Given the description of an element on the screen output the (x, y) to click on. 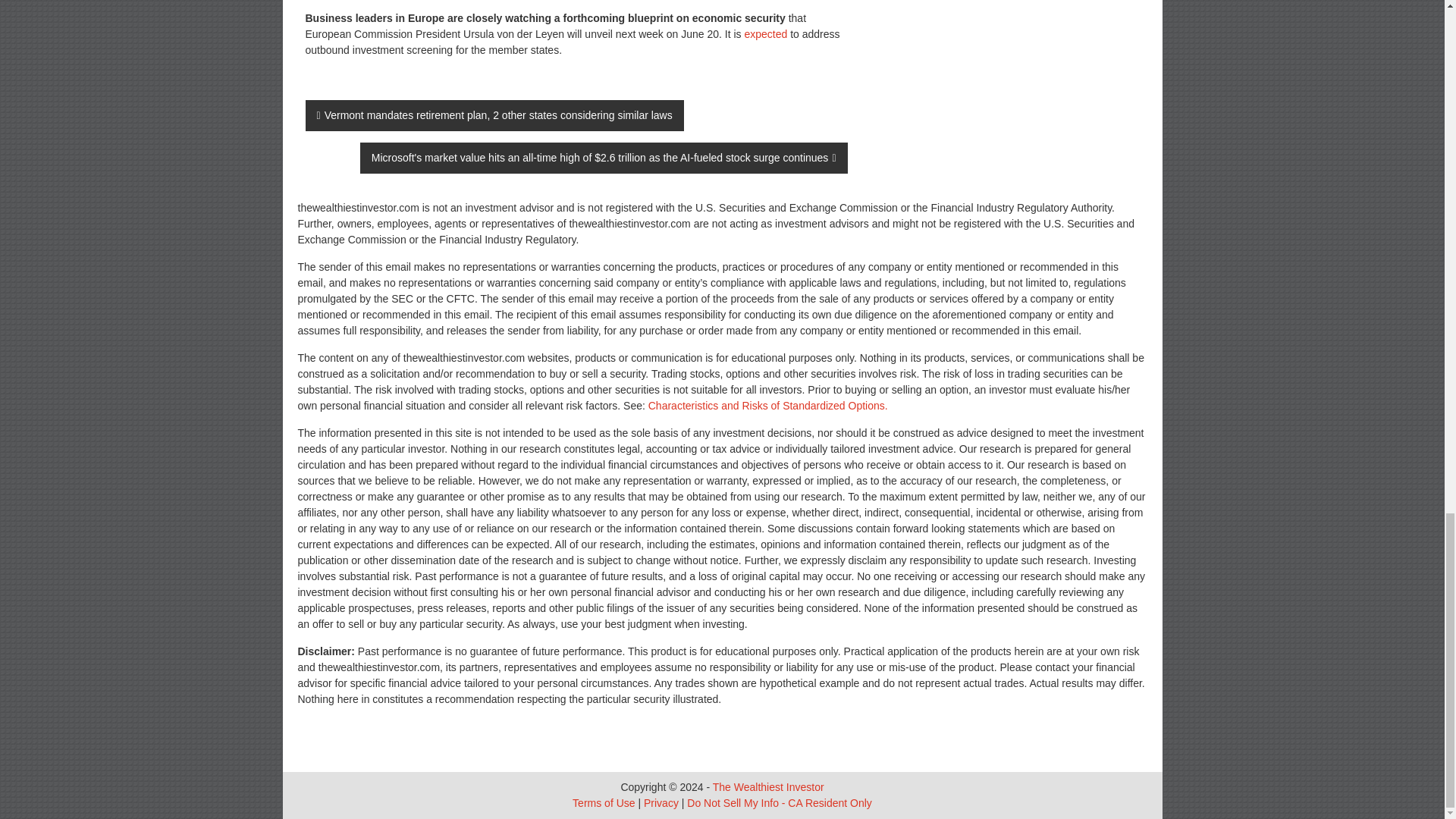
Do Not Sell My Info - CA Resident Only (779, 802)
Characteristics and Risks of Standardized Options. (767, 405)
expected (765, 33)
Privacy (660, 802)
The Wealthiest Investor (768, 787)
Terms of Use (603, 802)
